Given the description of an element on the screen output the (x, y) to click on. 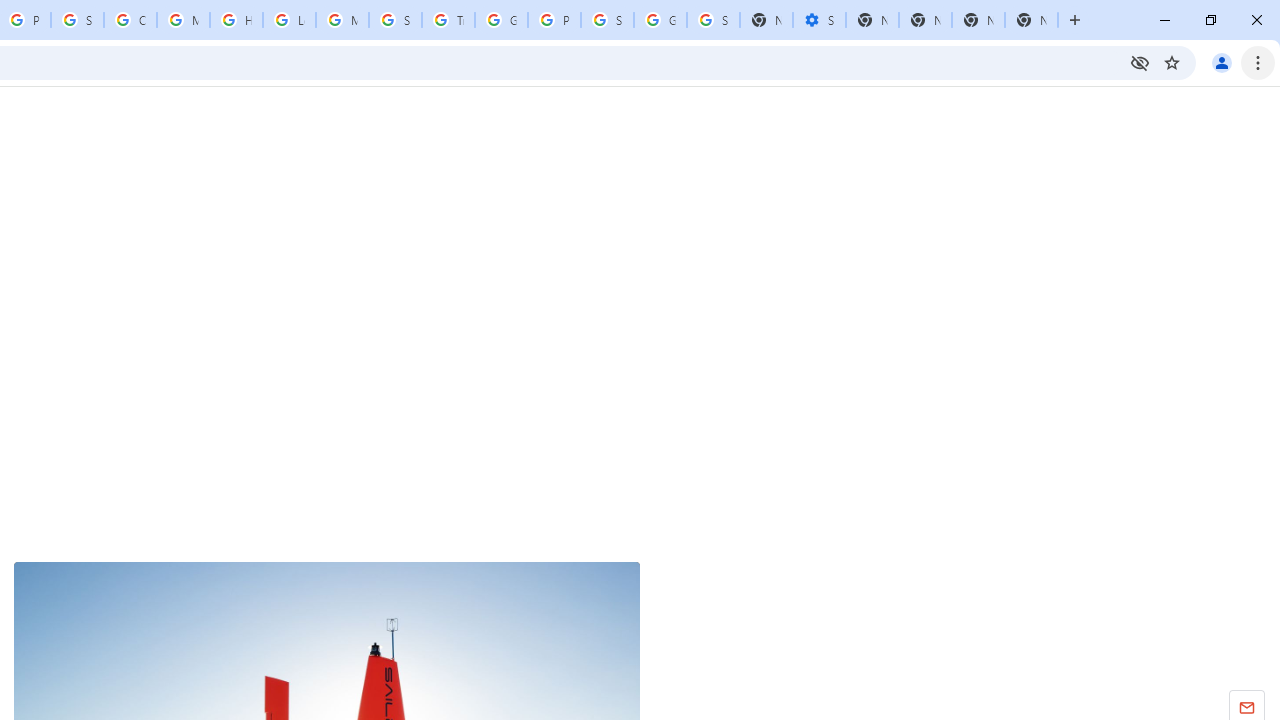
Settings - Performance (819, 20)
Sign in - Google Accounts (607, 20)
Google Cybersecurity Innovations - Google Safety Center (660, 20)
Google Ads - Sign in (501, 20)
Trusted Information and Content - Google Safety Center (448, 20)
